Given the description of an element on the screen output the (x, y) to click on. 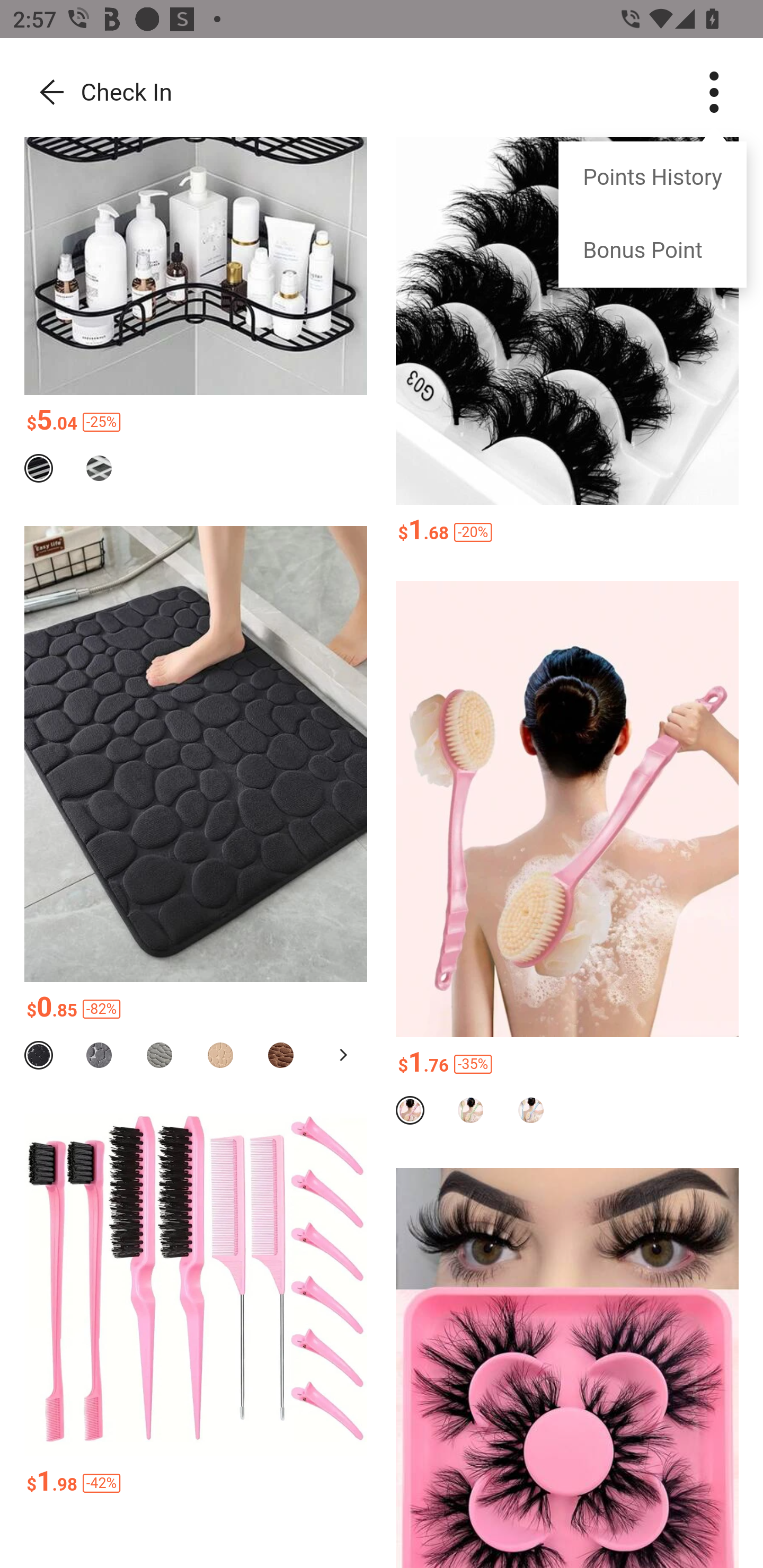
Check In (98, 92)
Points History (651, 178)
Bonus Point (651, 251)
$5.04-25% (195, 422)
$1.68-20% (566, 532)
$0.85-82% (195, 1009)
$1.76-35% (566, 1064)
$1.98-42% (195, 1483)
